Given the description of an element on the screen output the (x, y) to click on. 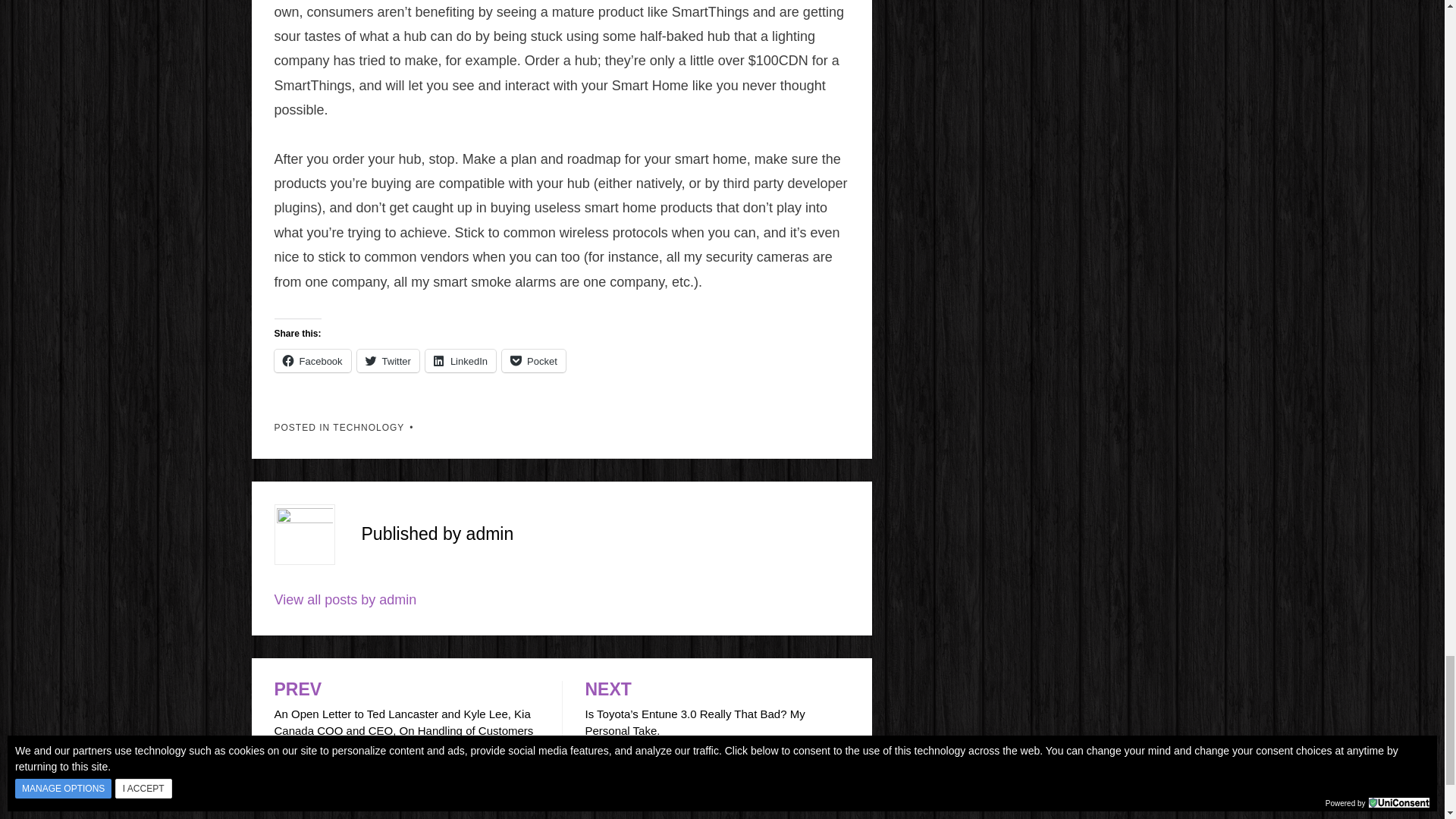
Pocket (534, 360)
Click to share on Facebook (312, 360)
TECHNOLOGY (368, 427)
Click to share on Twitter (387, 360)
View all posts by admin (345, 599)
Facebook (312, 360)
LinkedIn (460, 360)
Click to share on LinkedIn (460, 360)
Twitter (387, 360)
Click to share on Pocket (534, 360)
